Given the description of an element on the screen output the (x, y) to click on. 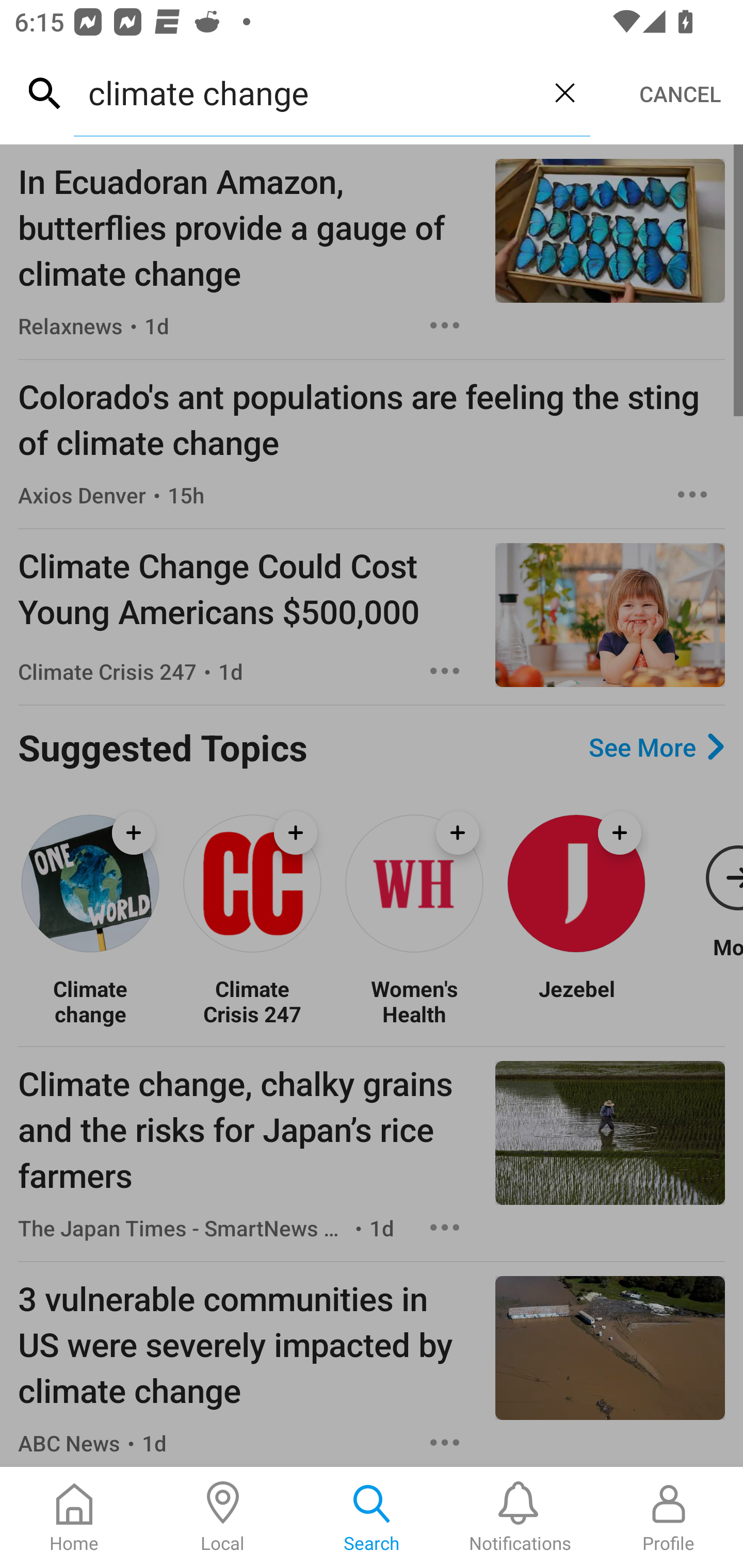
Clear query (564, 92)
CANCEL (680, 93)
climate change (306, 92)
Options (444, 325)
Options (692, 494)
Options (444, 671)
See More (656, 746)
Climate change (89, 1000)
Climate Crisis 247 (251, 1000)
Women's Health (413, 1000)
Jezebel (575, 1000)
Options (444, 1227)
Options (444, 1442)
Home (74, 1517)
Local (222, 1517)
Notifications (519, 1517)
Profile (668, 1517)
